Given the description of an element on the screen output the (x, y) to click on. 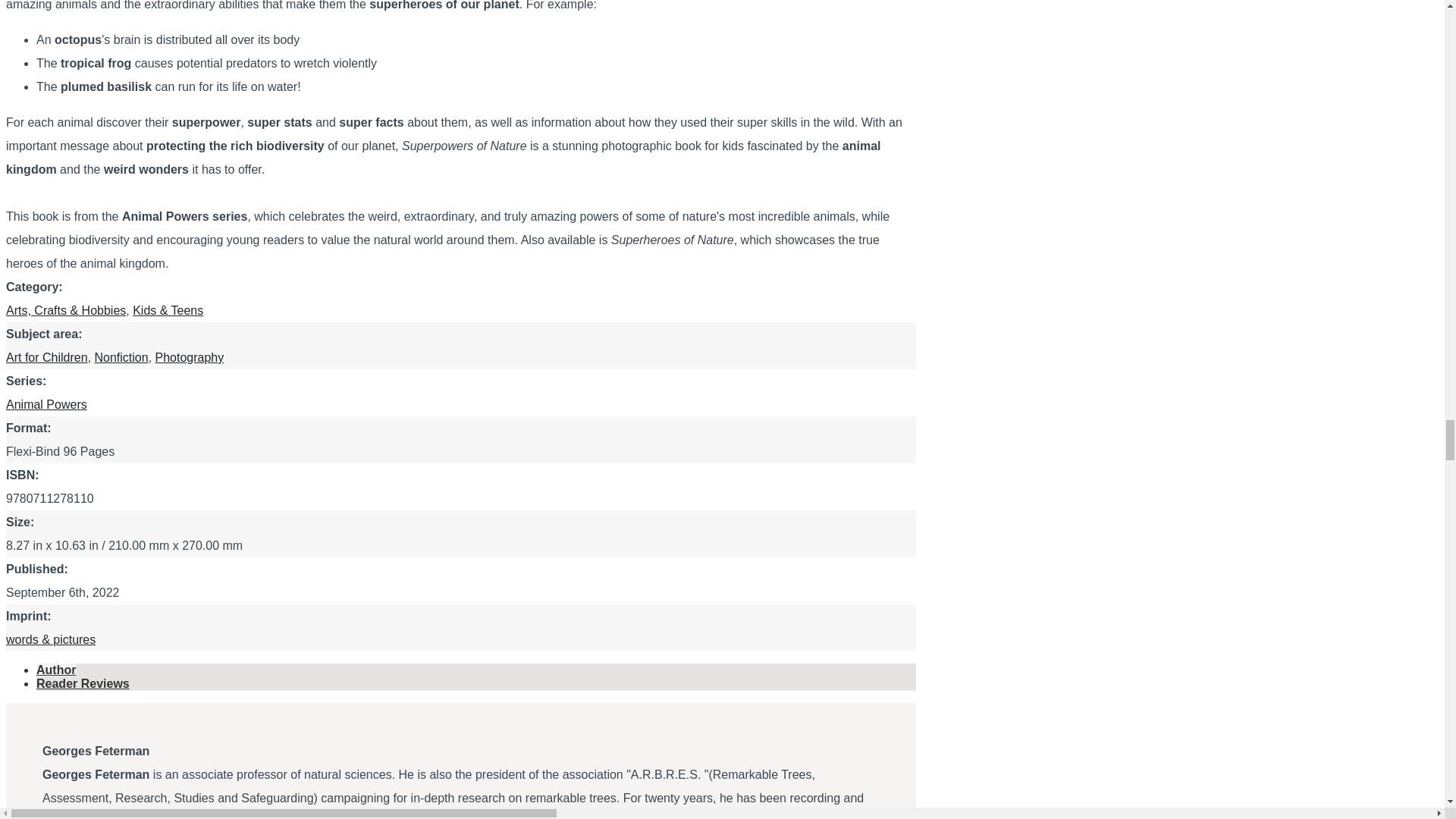
Author (55, 669)
Reader Reviews (82, 683)
Animal Powers (46, 404)
